Given the description of an element on the screen output the (x, y) to click on. 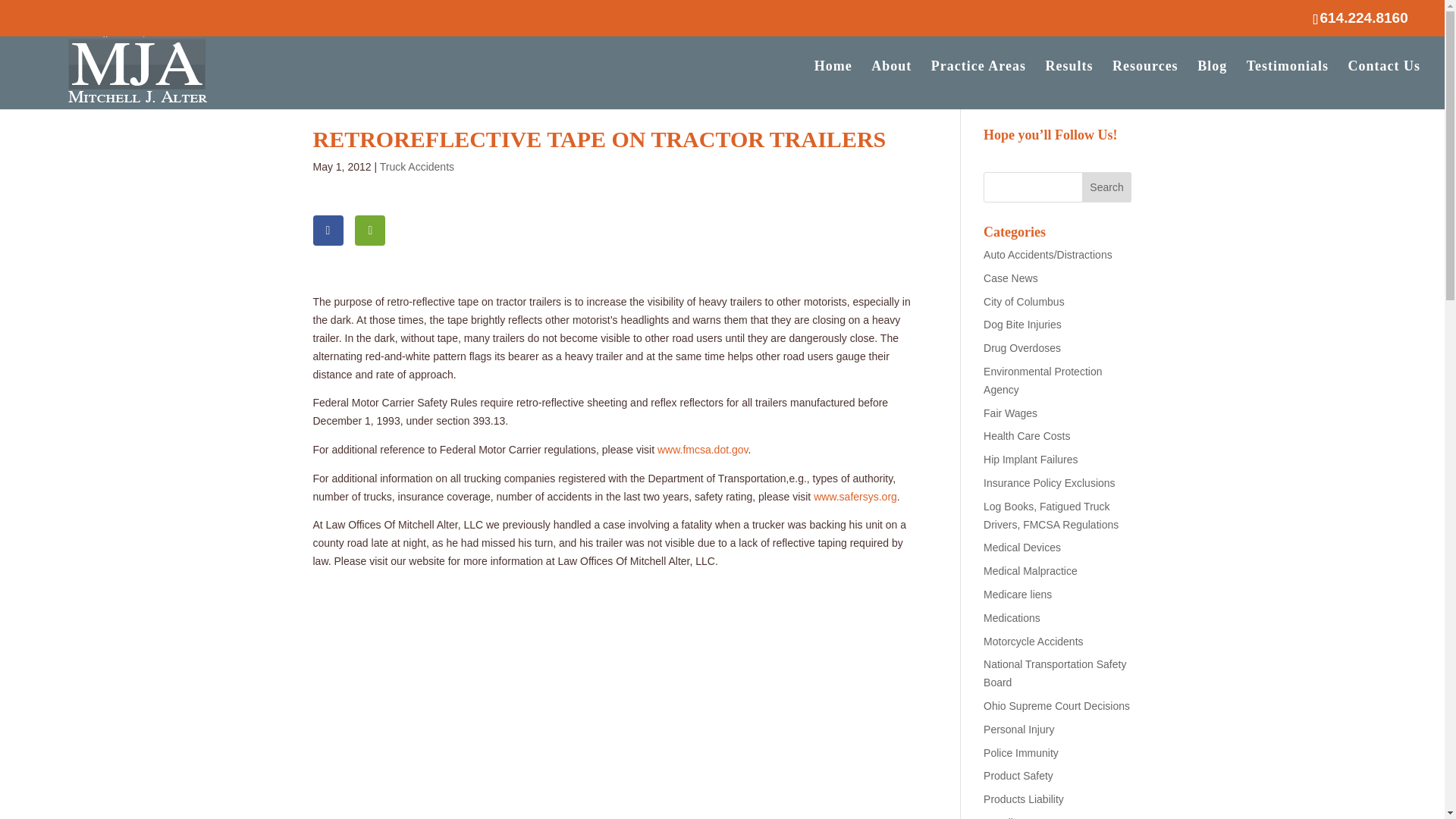
www.fmcsa.dot.gov (703, 449)
Testimonials (1286, 84)
Fair Wages (1010, 413)
Contact Us (1384, 84)
www.safersys.org (854, 496)
Environmental Protection Agency (1043, 380)
Truck Accidents (417, 166)
Health Care Costs (1027, 435)
Medical Devices (1022, 547)
Motorcycle Accidents (1033, 641)
Dog Bite Injuries (1022, 324)
Search (1106, 186)
Hip Implant Failures (1031, 459)
City of Columbus (1024, 301)
Medical Malpractice (1030, 571)
